Given the description of an element on the screen output the (x, y) to click on. 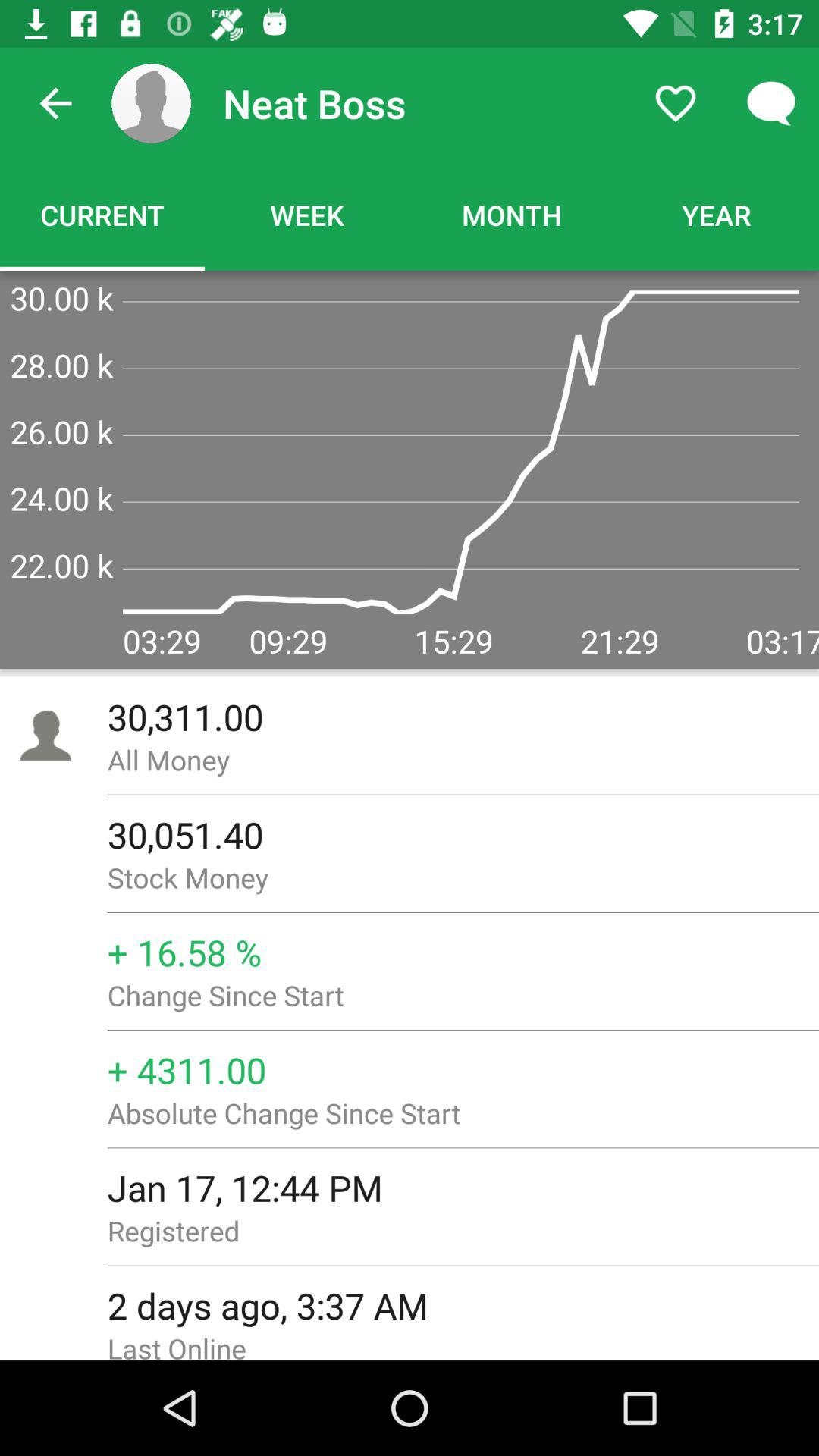
tap item above the year (771, 103)
